Given the description of an element on the screen output the (x, y) to click on. 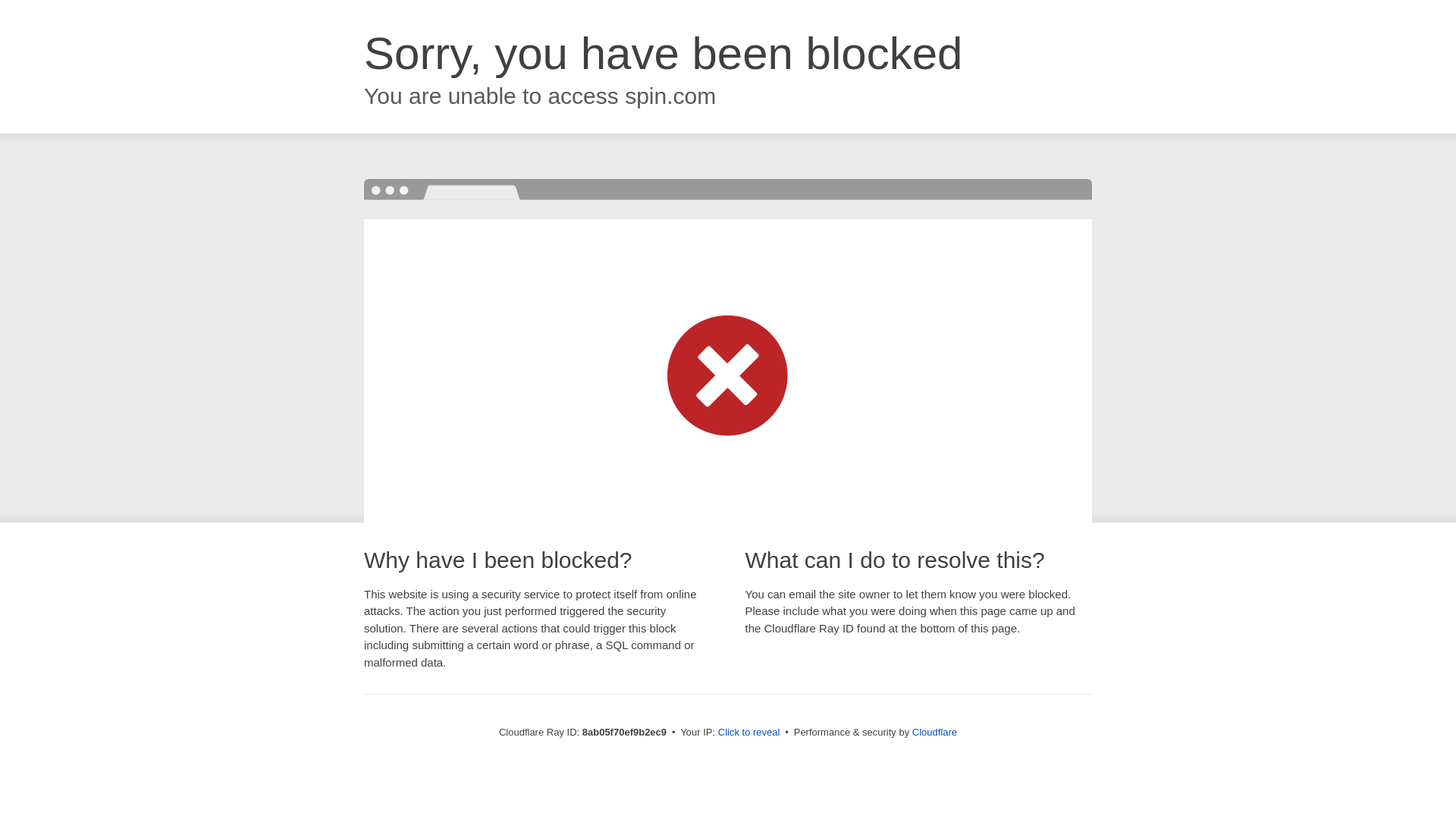
Click to reveal (748, 732)
Cloudflare (934, 731)
